Given the description of an element on the screen output the (x, y) to click on. 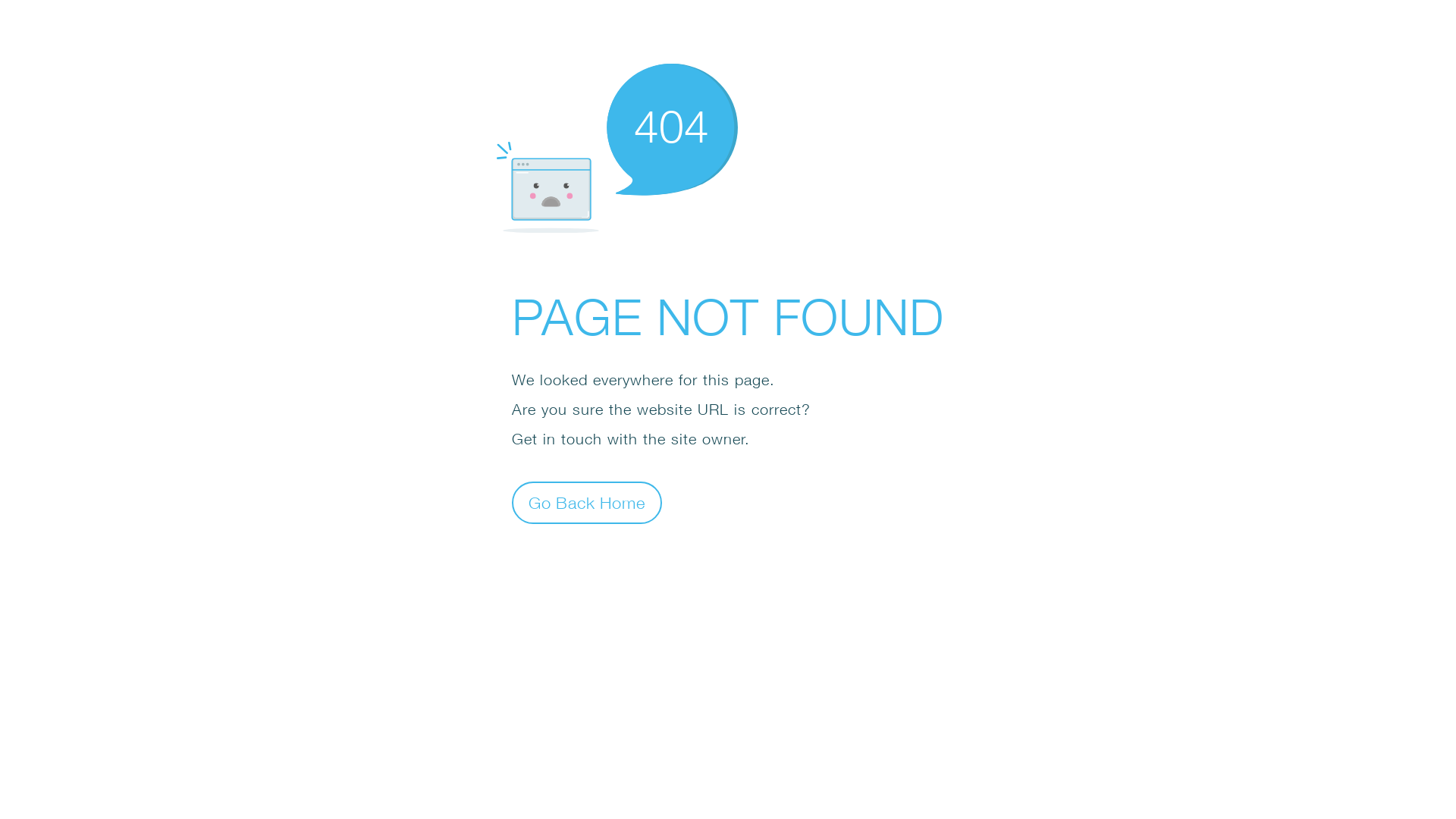
Go Back Home Element type: text (586, 502)
